Given the description of an element on the screen output the (x, y) to click on. 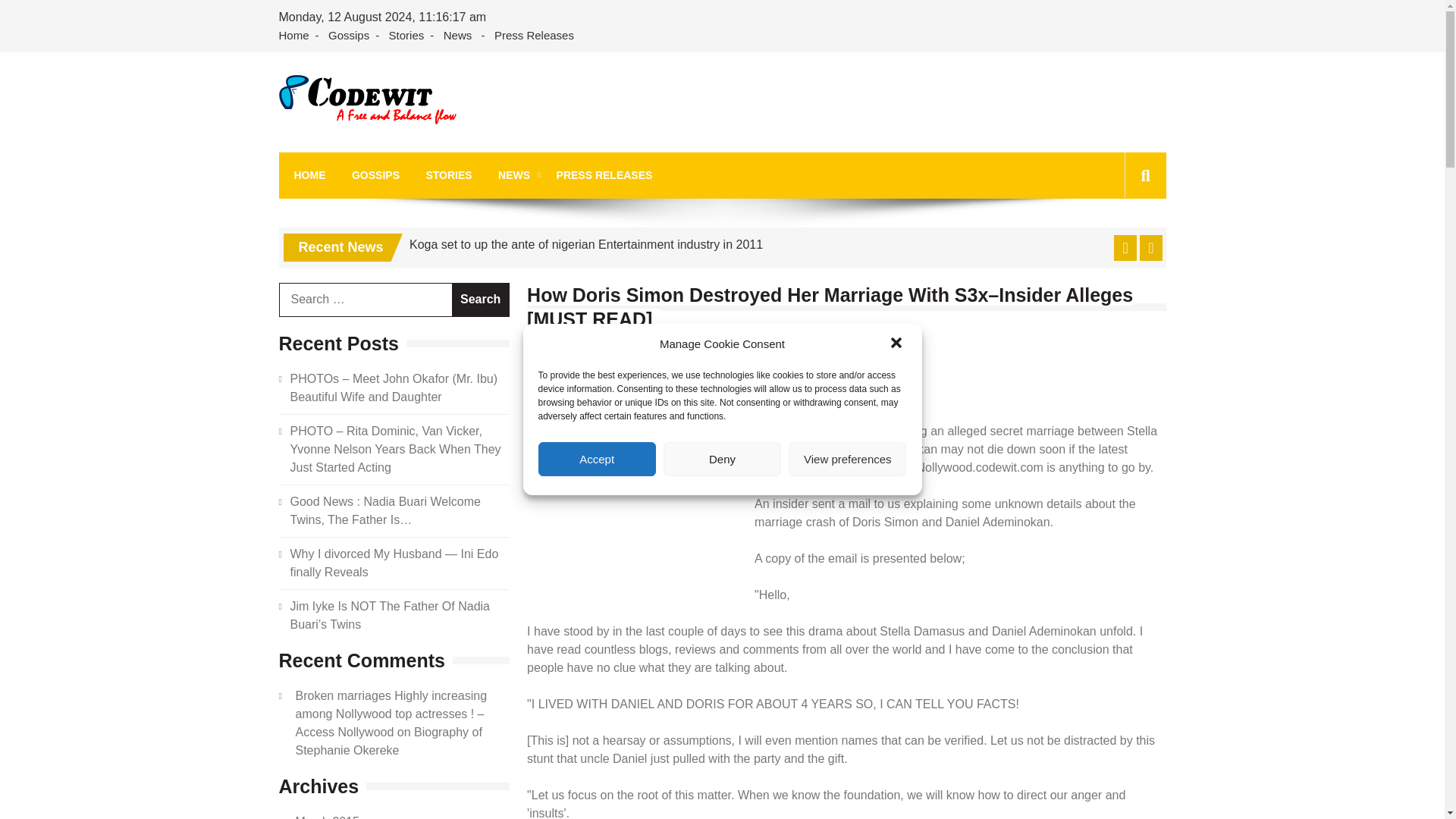
Deny (721, 458)
Press Releases (533, 36)
Accept (597, 458)
STORIES (448, 175)
Access Nollywood (396, 144)
Search (480, 299)
Home (297, 36)
GOSSIPS (375, 175)
PRESS RELEASES (604, 175)
